Given the description of an element on the screen output the (x, y) to click on. 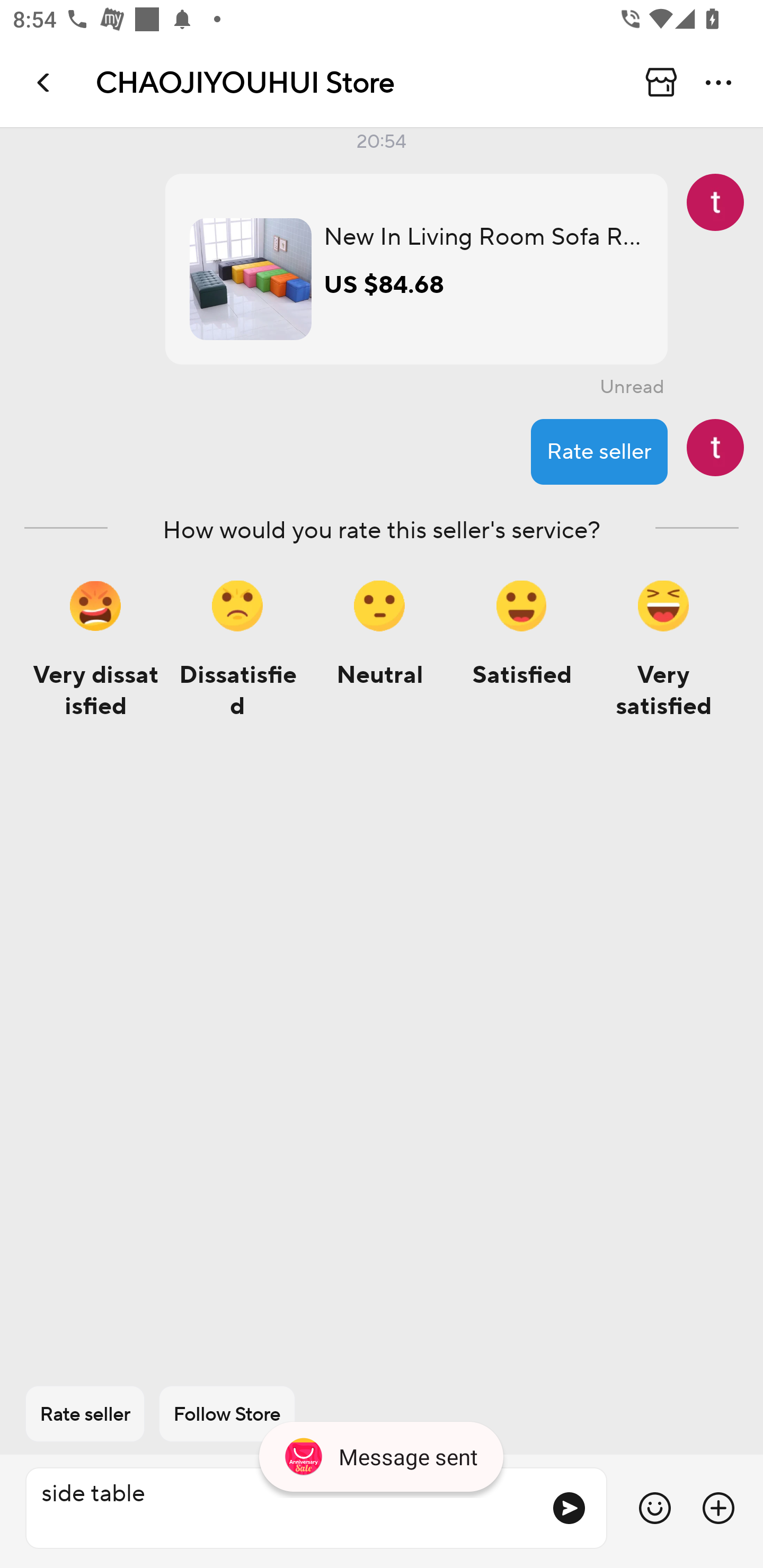
Navigate up (44, 82)
头像 (714, 202)
Rate seller (599, 451)
头像 (714, 447)
Rate seller (84, 1414)
Follow Store (226, 1414)
side table
 (281, 1508)
